Given the description of an element on the screen output the (x, y) to click on. 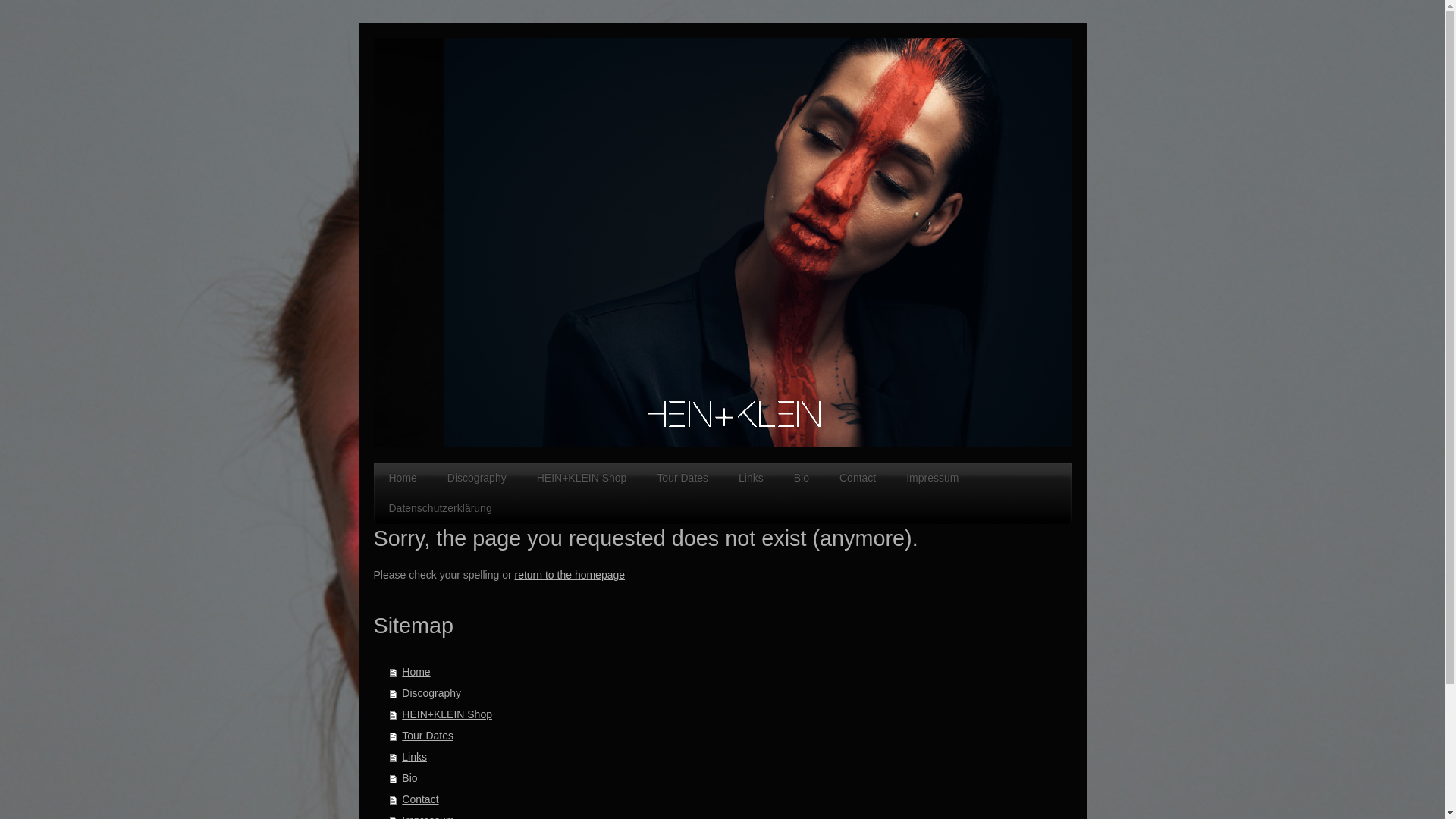
Bio (801, 477)
Discography (476, 477)
Impressum (932, 477)
Home (730, 671)
Tour Dates (730, 735)
Discography (730, 692)
Links (730, 756)
Contact (857, 477)
Impressum (730, 814)
return to the homepage (568, 574)
